Given the description of an element on the screen output the (x, y) to click on. 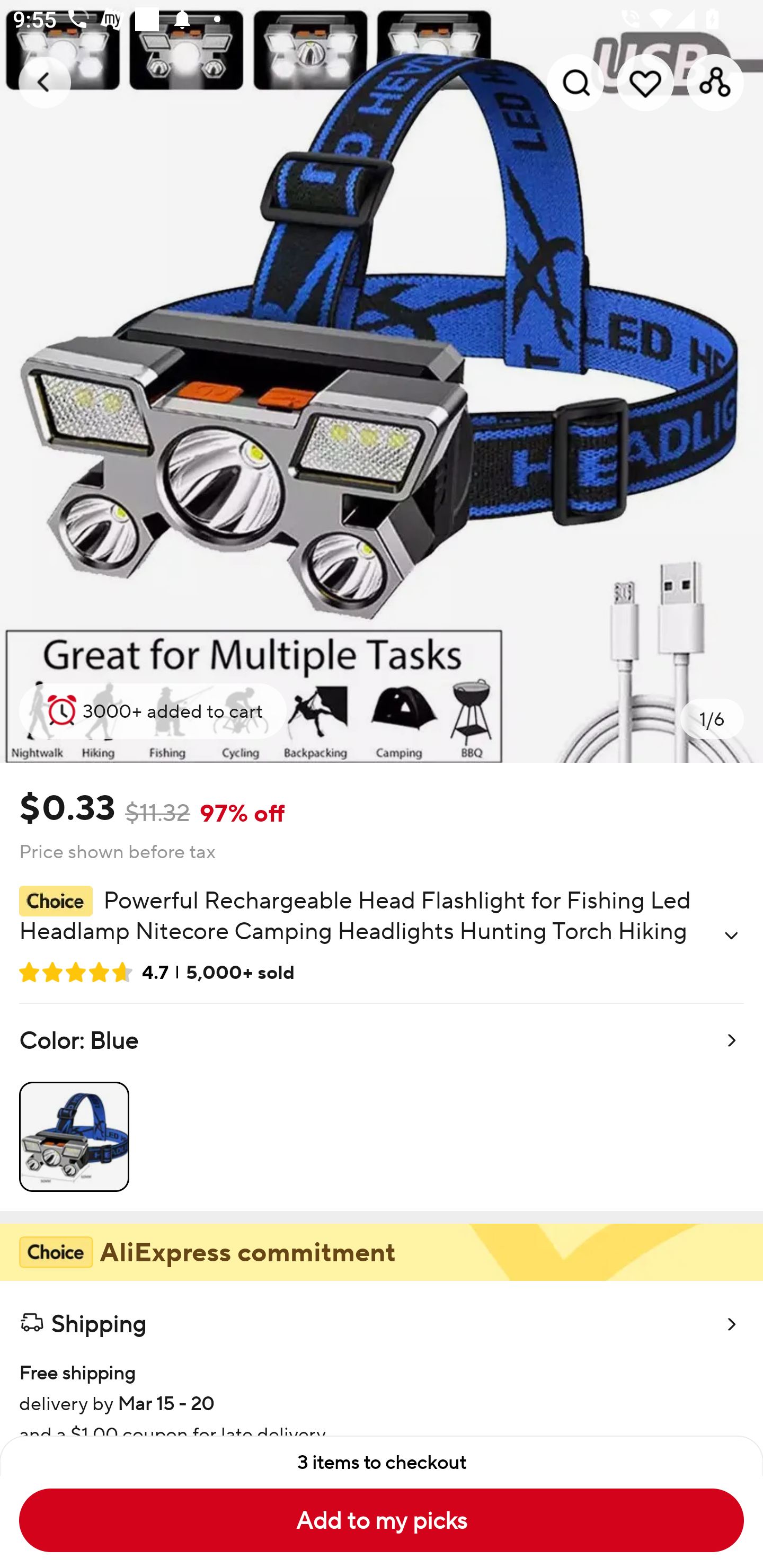
Navigate up (44, 82)
 (730, 935)
Color: Blue  (381, 1106)
Add to my picks (381, 1520)
